Given the description of an element on the screen output the (x, y) to click on. 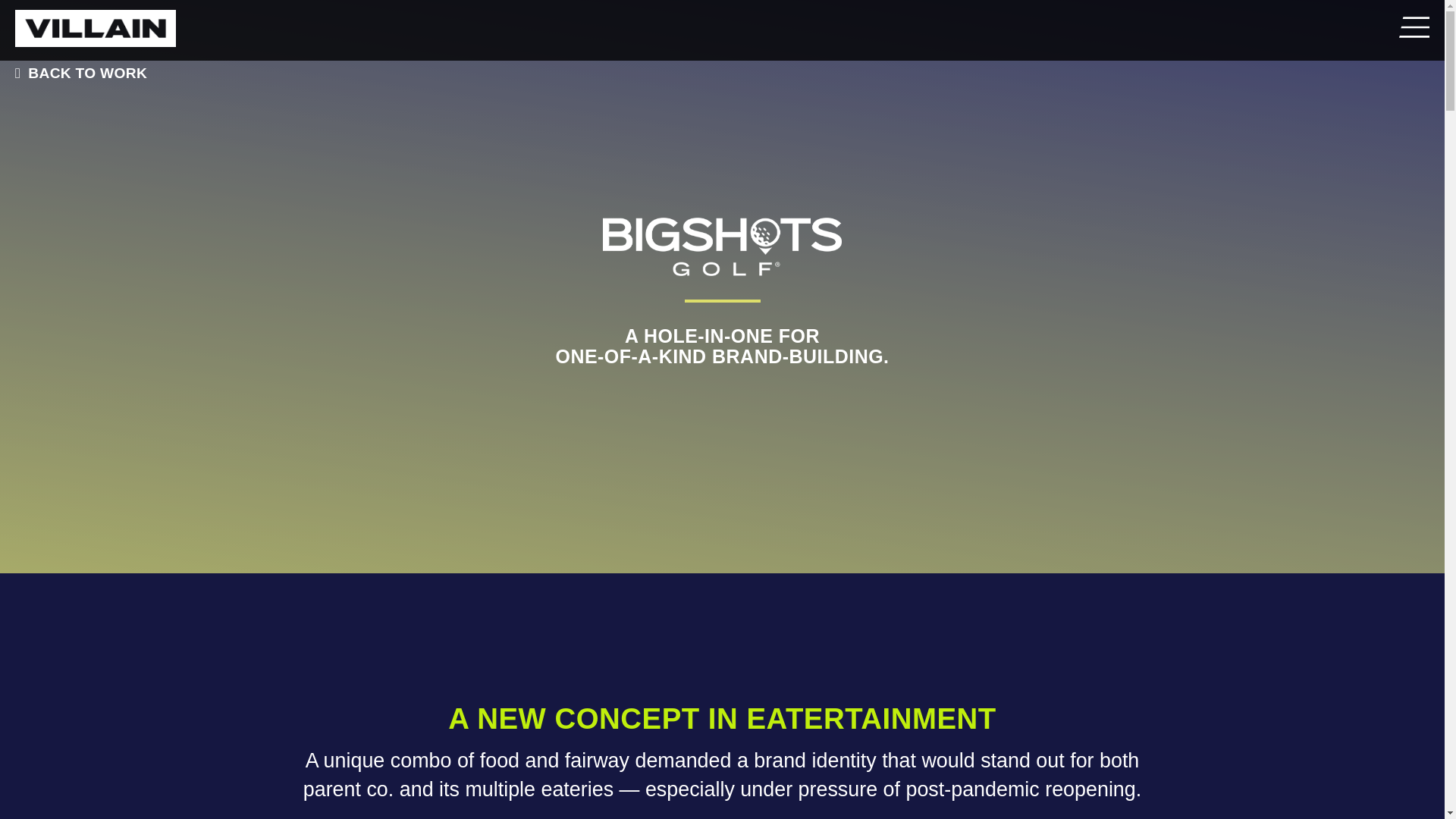
BACK TO WORK (77, 73)
